Given the description of an element on the screen output the (x, y) to click on. 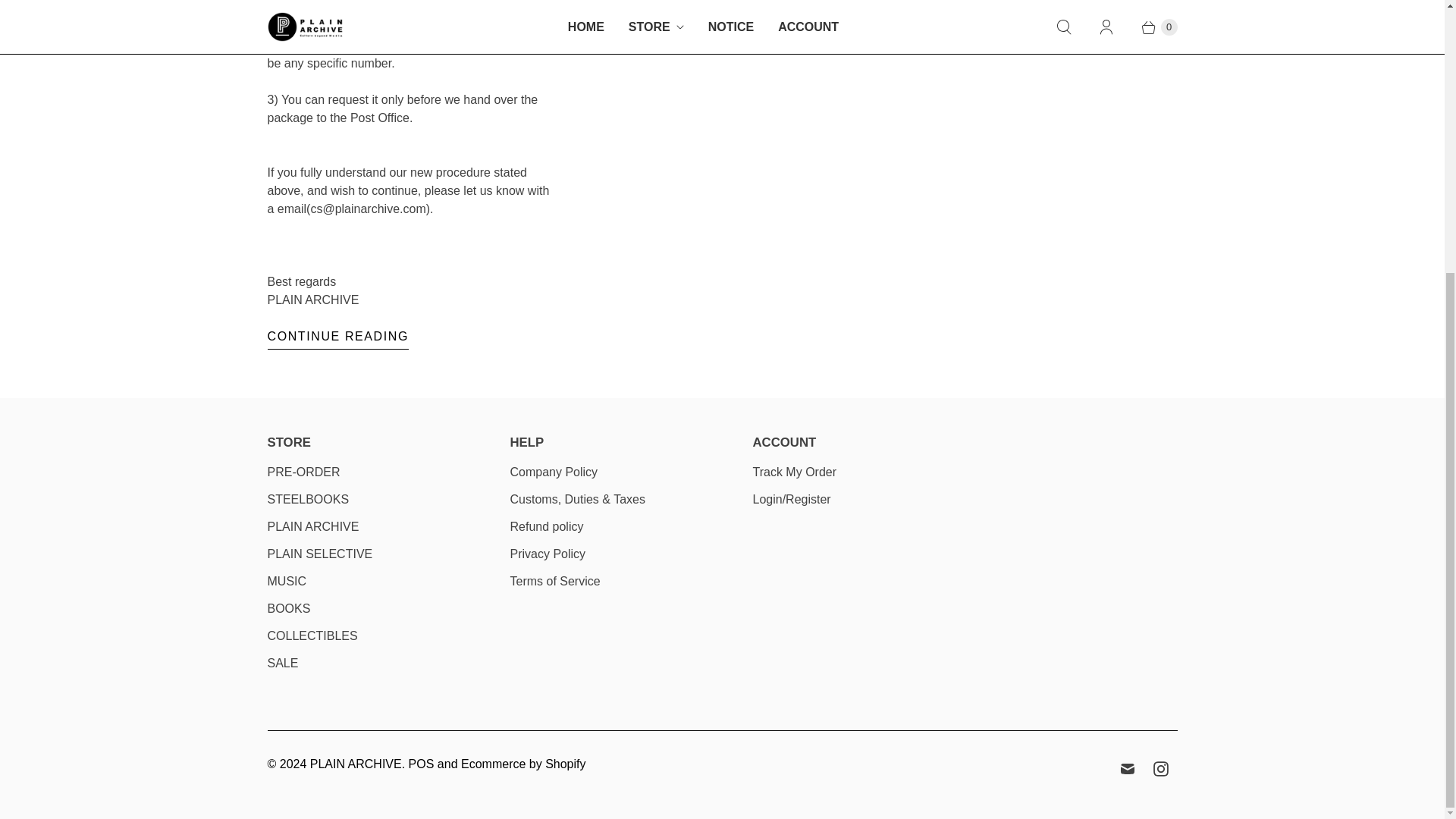
Combining orders is now possible (337, 338)
